Given the description of an element on the screen output the (x, y) to click on. 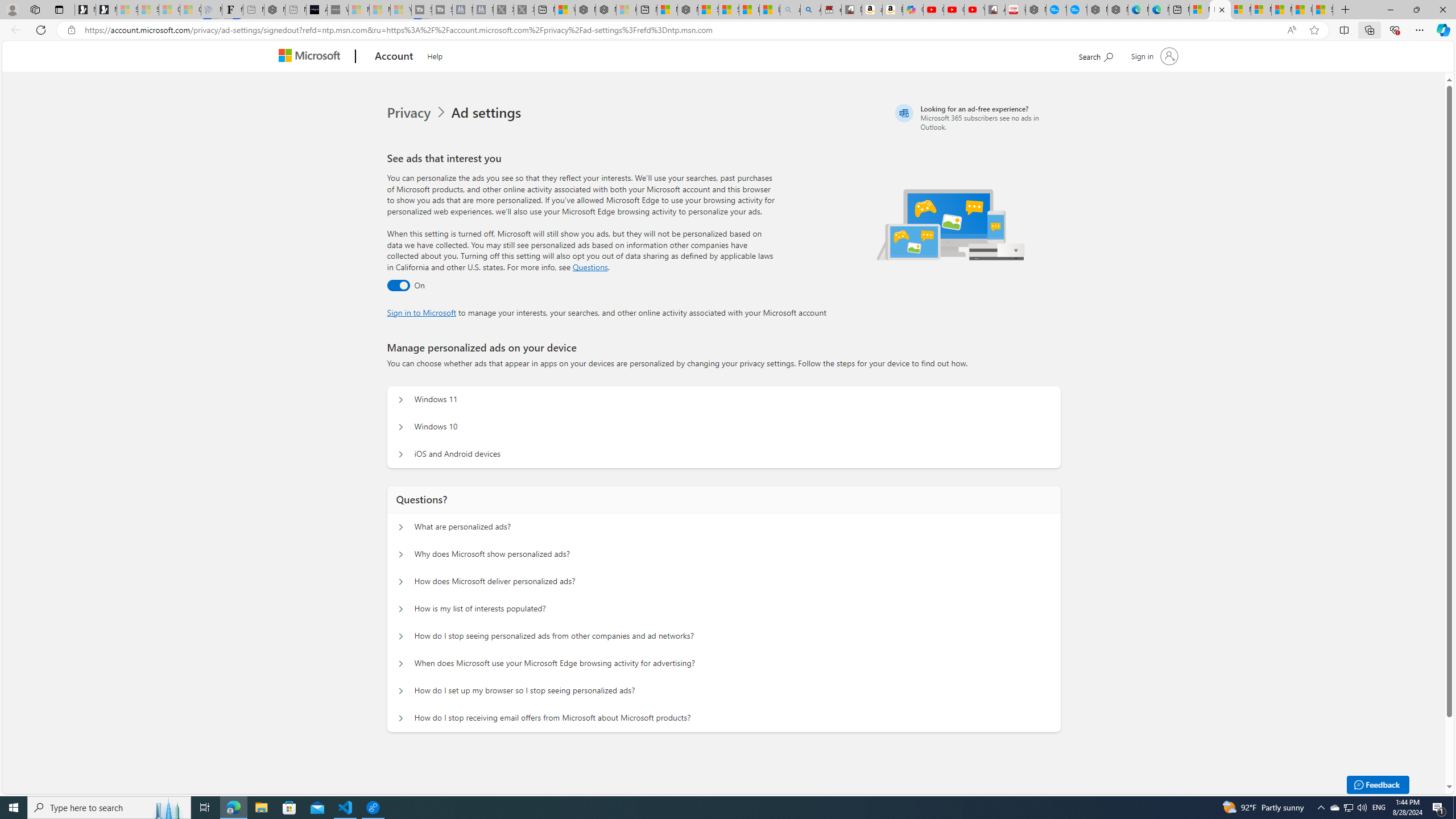
Microsoft Start - Sleeping (379, 9)
Nordace - Nordace Siena Is Not An Ordinary Backpack (687, 9)
Questions? Why does Microsoft show personalized ads? (401, 554)
amazon.in/dp/B0CX59H5W7/?tag=gsmcom05-21 (871, 9)
Go to Questions section (590, 266)
